Given the description of an element on the screen output the (x, y) to click on. 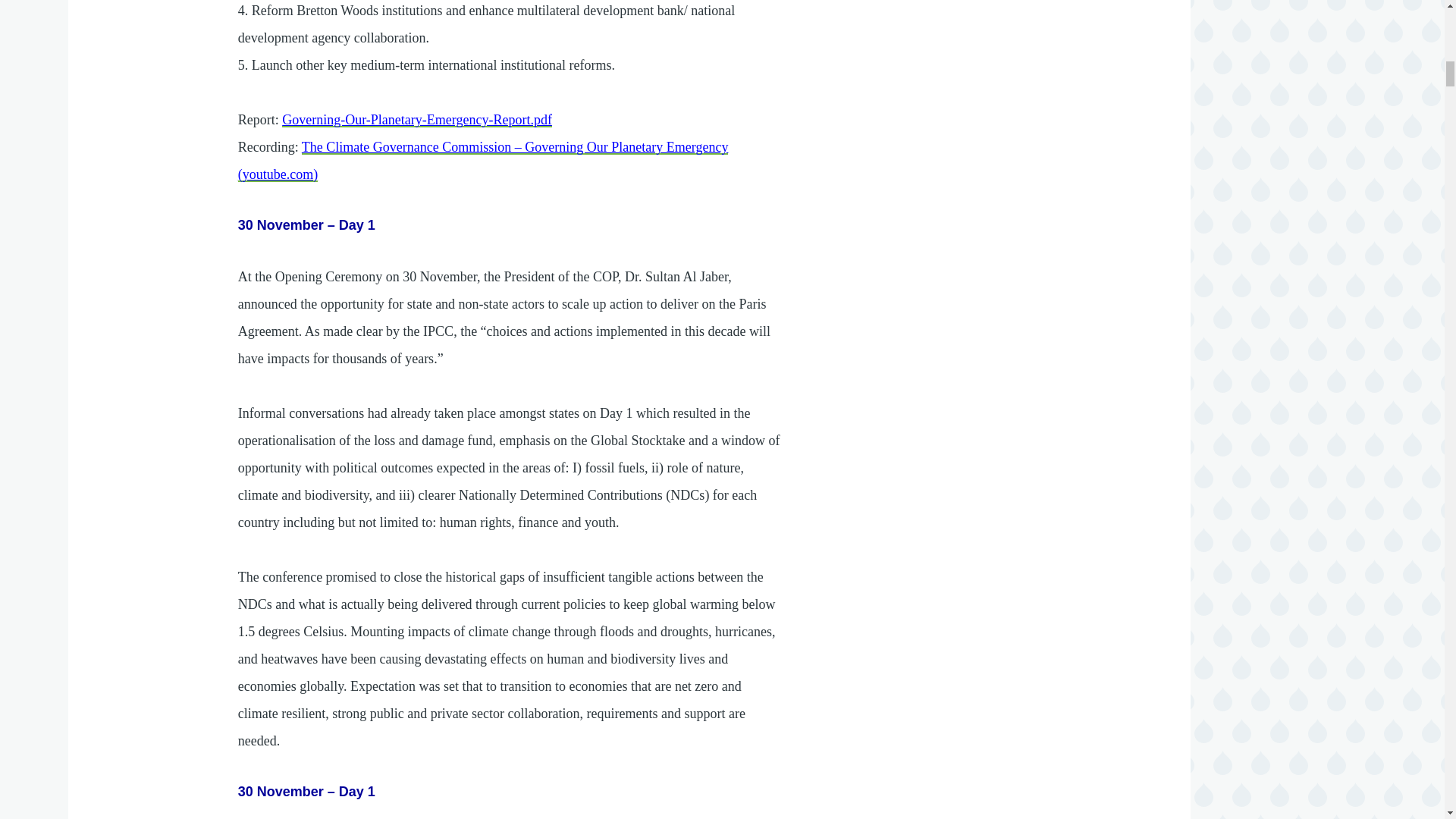
Governing-Our-Planetary-Emergency-Report.pdf (416, 119)
